Given the description of an element on the screen output the (x, y) to click on. 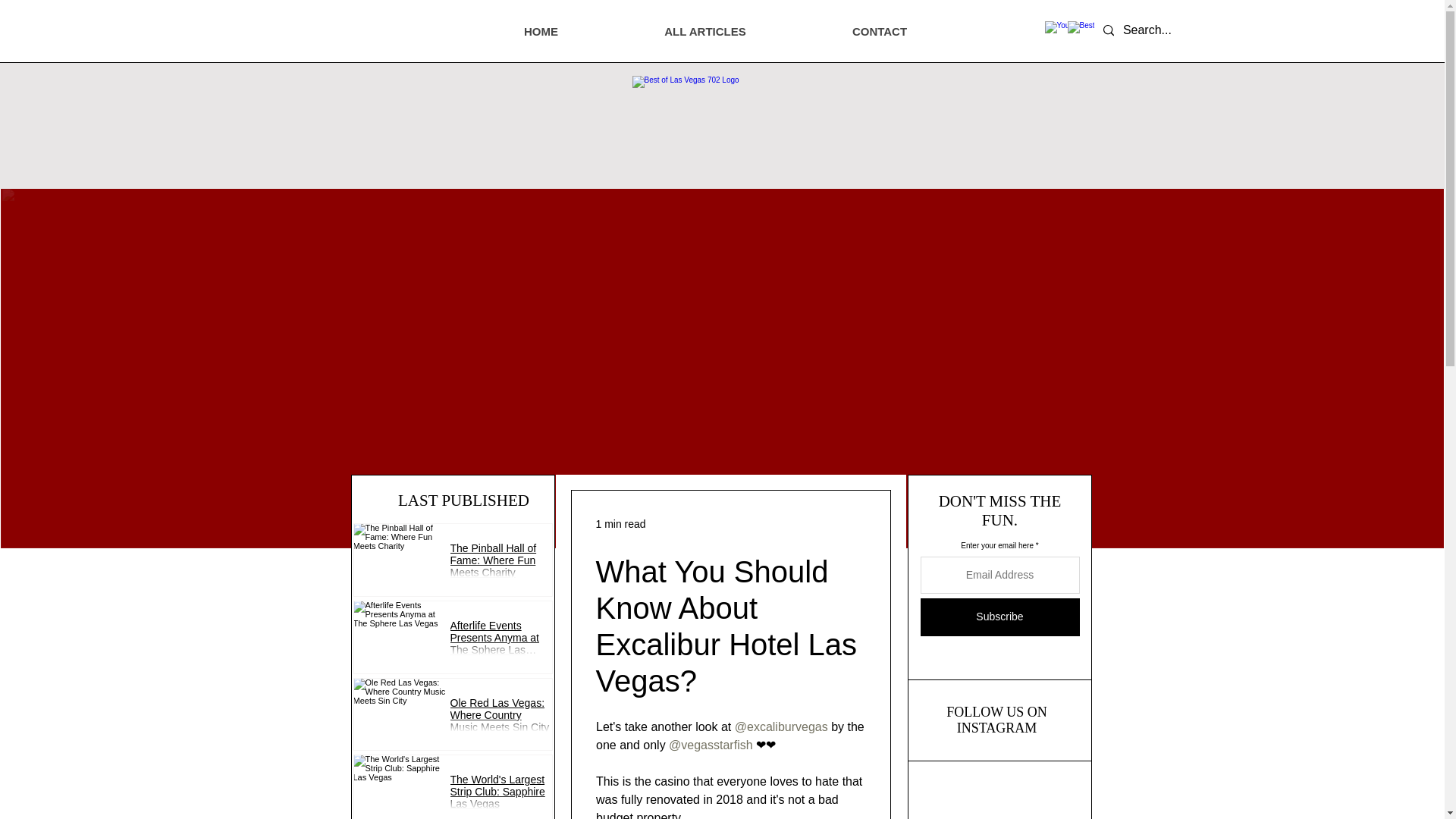
Afterlife Events Presents Anyma at The Sphere Las Vegas (500, 642)
ALL ARTICLES (705, 31)
Subscribe (1000, 617)
The Pinball Hall of Fame: Where Fun Meets Charity (500, 565)
CONTACT (879, 31)
The World's Largest Strip Club: Sapphire Las Vegas (500, 796)
Ole Red Las Vegas: Where Country Music Meets Sin City (500, 719)
HOME (541, 31)
1 min read (620, 522)
